Given the description of an element on the screen output the (x, y) to click on. 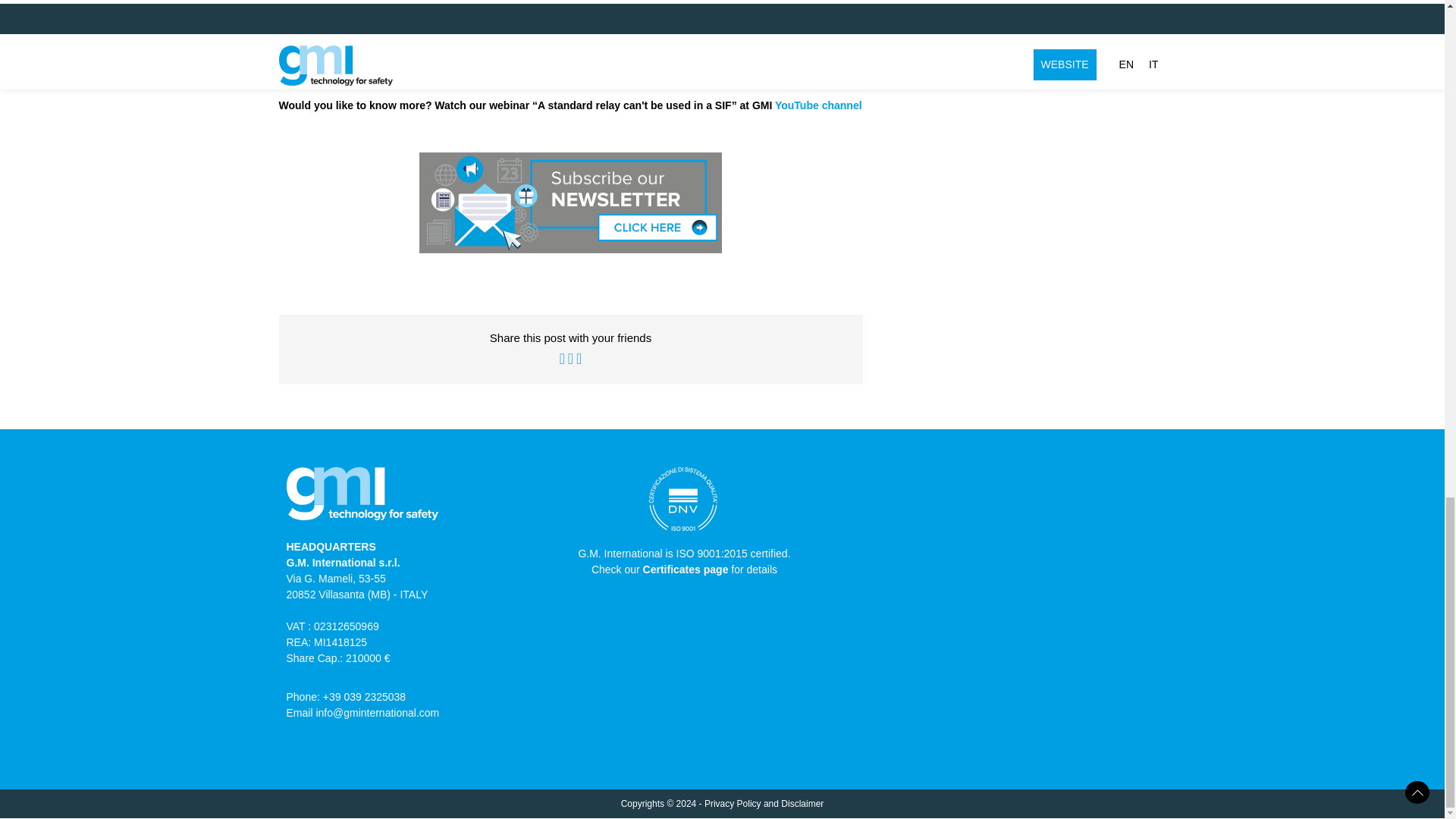
Certificates page (686, 569)
GMI YouTube channel (806, 105)
Privacy Policy and Disclaimer (764, 803)
logo-foo (362, 498)
